Given the description of an element on the screen output the (x, y) to click on. 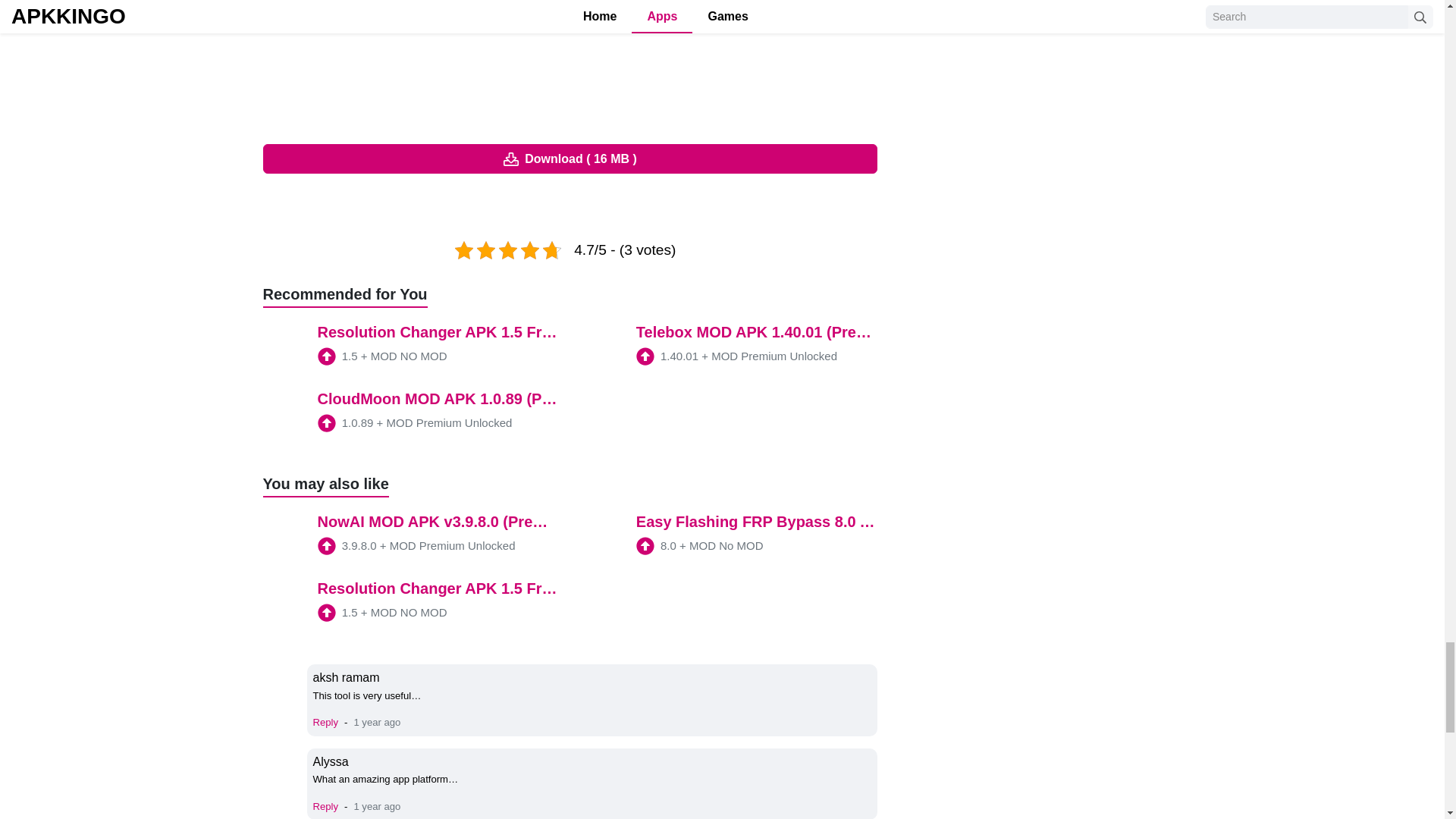
Resolution Changer APK 1.5 Free Download For Android (409, 603)
Resolution Changer APK 1.5 Free Download For Android (409, 346)
Easy Flashing FRP Bypass 8.0 APK Latest Version For Android (728, 536)
